Given the description of an element on the screen output the (x, y) to click on. 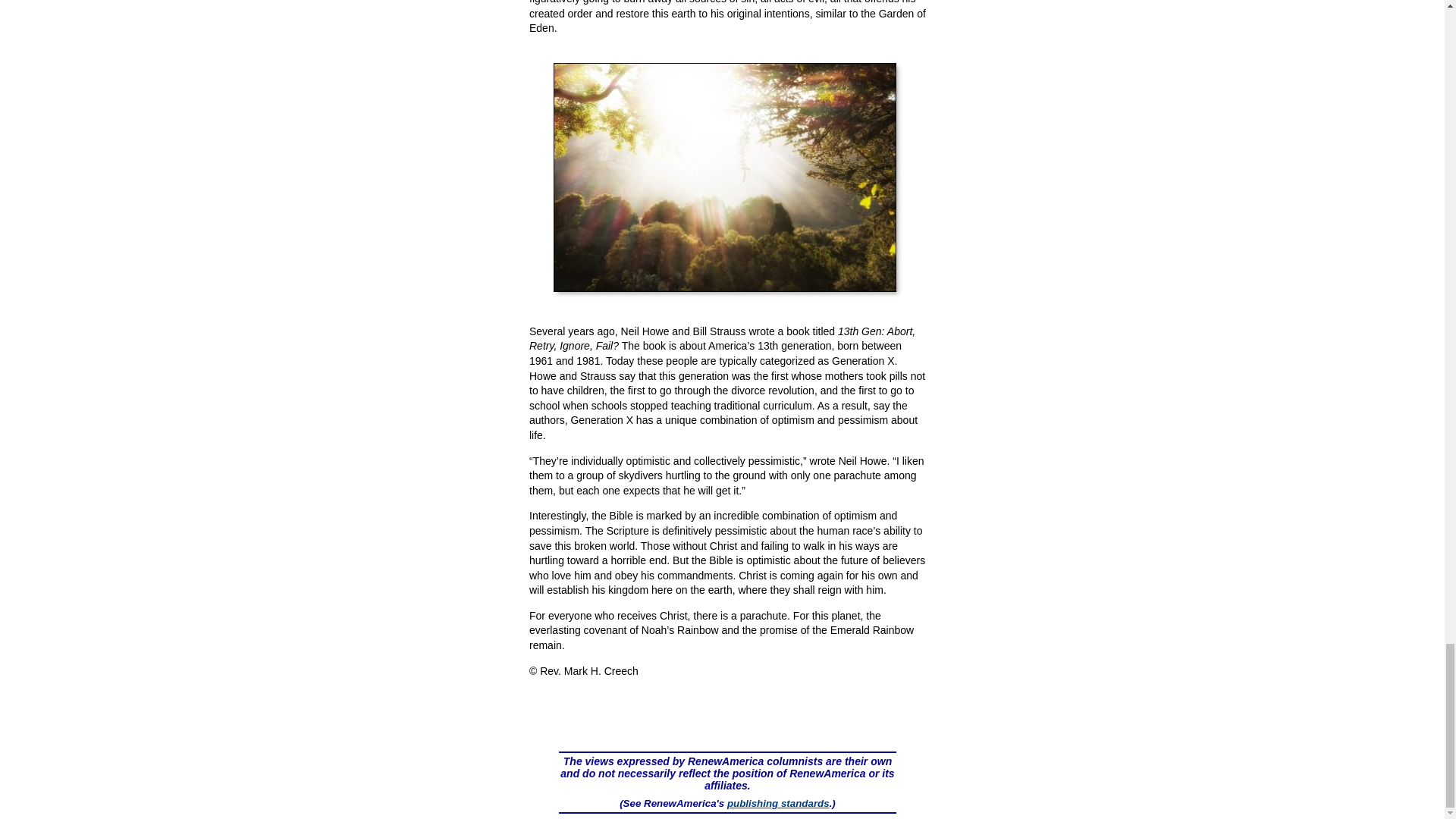
publishing standards (777, 803)
